Given the description of an element on the screen output the (x, y) to click on. 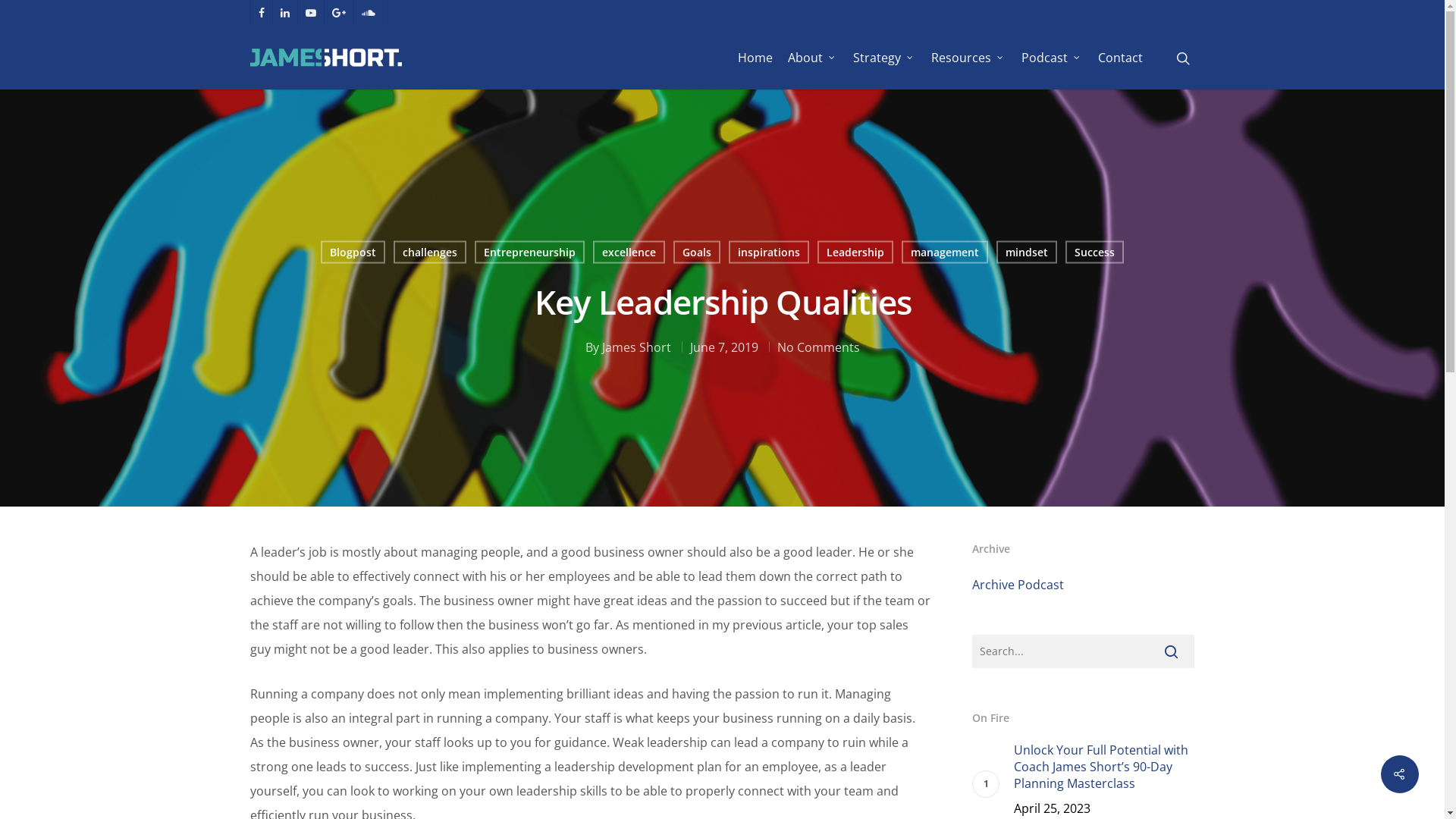
challenges Element type: text (428, 252)
management Element type: text (943, 252)
Goals Element type: text (696, 252)
James Short Element type: text (636, 346)
Resources Element type: text (968, 57)
About Element type: text (812, 57)
Success Element type: text (1093, 252)
Entrepreneurship Element type: text (529, 252)
inspirations Element type: text (768, 252)
Leadership Element type: text (855, 252)
Search for: Element type: hover (1083, 651)
excellence Element type: text (629, 252)
Podcast Element type: text (1051, 57)
Contact Element type: text (1120, 57)
Strategy Element type: text (884, 57)
No Comments Element type: text (817, 346)
Home Element type: text (755, 57)
mindset Element type: text (1026, 252)
Archive Podcast Element type: text (1017, 584)
Blogpost Element type: text (352, 252)
